Given the description of an element on the screen output the (x, y) to click on. 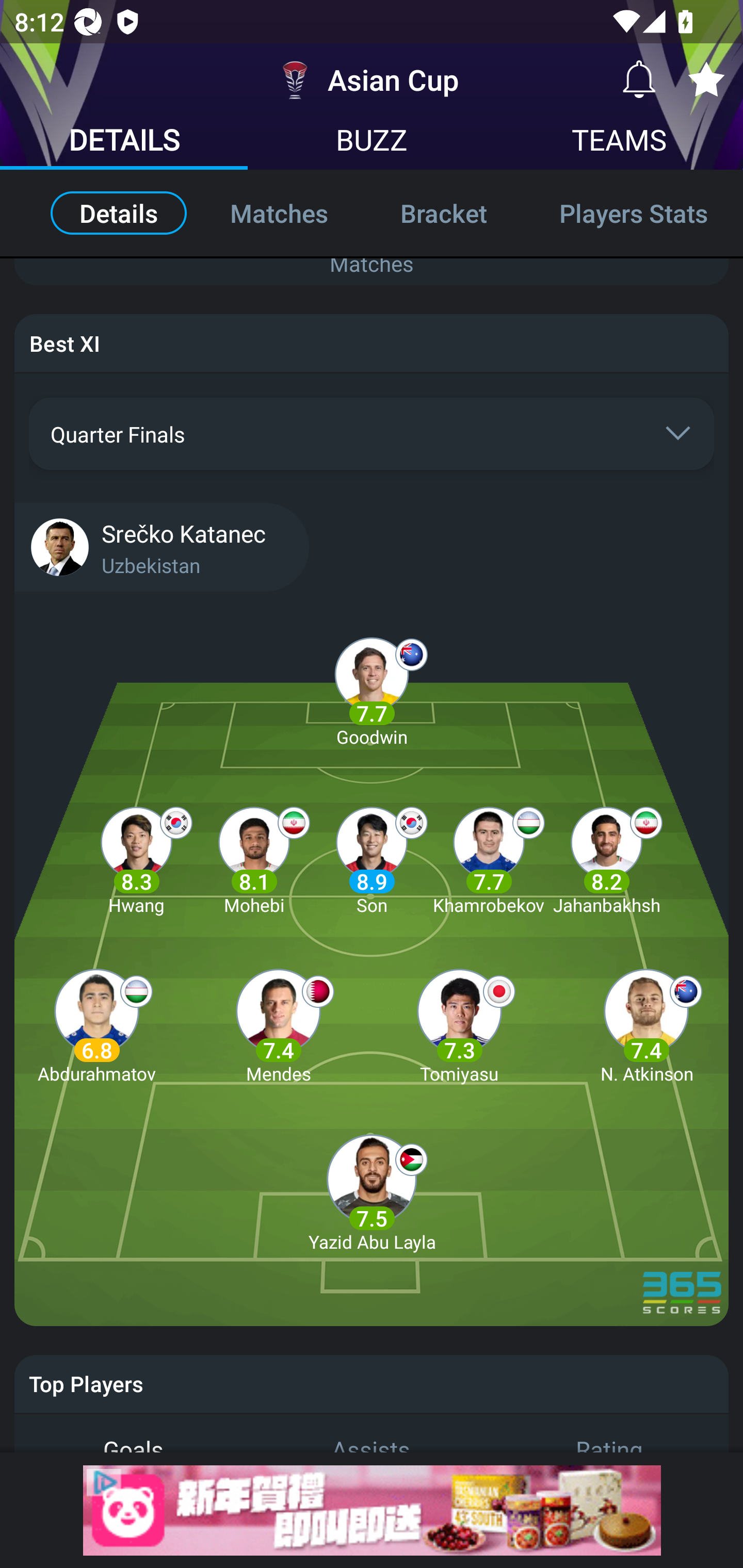
DETAILS (123, 142)
BUZZ (371, 142)
TEAMS (619, 142)
Matches (278, 212)
Bracket (443, 212)
Players Stats (633, 212)
Matches (371, 263)
Quarter Finals (371, 434)
Srečko Katanec Uzbekistan (371, 546)
Goodwin 7.7 (371, 688)
Hwang 8.3 (136, 857)
Mohebi 8.1 (253, 857)
8.9 Son (371, 857)
Khamrobekov 7.7 (488, 857)
Jahanbakhsh 8.2 (606, 857)
Abdurahmatov 6.8 (96, 1025)
Mendes 7.4 (278, 1025)
Tomiyasu 7.3 (459, 1025)
N. Atkinson 7.4 (646, 1025)
Yazid Abu Layla 7.5 (371, 1193)
Top Players (371, 1383)
mg0gkqli_320x50 (371, 1509)
